Given the description of an element on the screen output the (x, y) to click on. 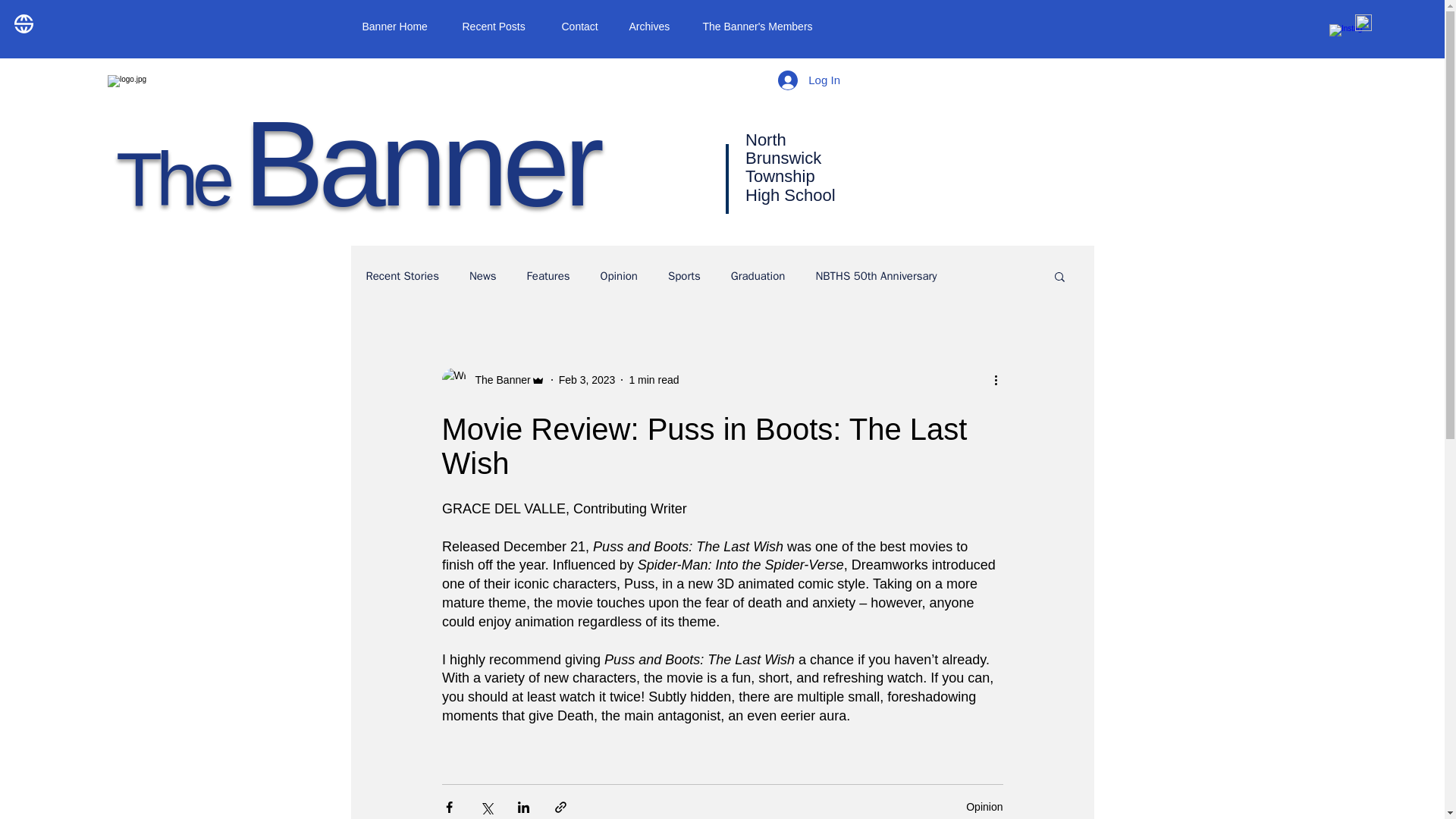
The Banner (357, 162)
News (482, 275)
Log In (808, 79)
Feb 3, 2023 (587, 378)
Recent Posts (499, 26)
The Banner (492, 379)
Recent Stories (401, 275)
Features (548, 275)
Sports (684, 275)
Opinion (984, 806)
Graduation (758, 275)
Archives (653, 26)
1 min read (653, 378)
NBTHS 50th Anniversary (875, 275)
Opinion (618, 275)
